Given the description of an element on the screen output the (x, y) to click on. 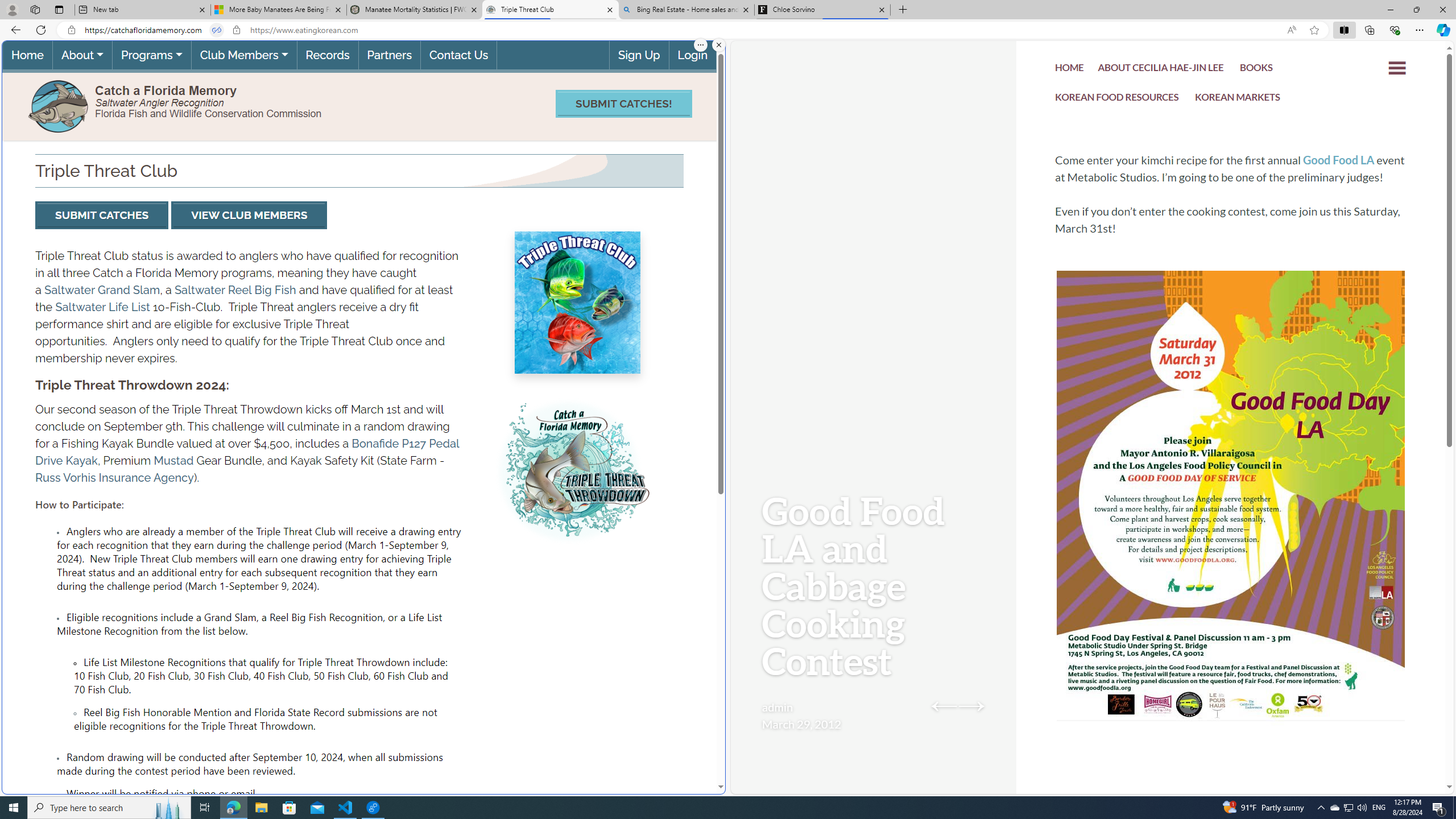
BOOKS (1256, 70)
Bonafide (374, 443)
New Tab (903, 9)
BOOKS (1256, 68)
P127 Pedal Drive Kayak (247, 452)
Mustad (172, 460)
Workspaces (34, 9)
Manatee Mortality Statistics | FWC (414, 9)
Settings and more (Alt+F) (1419, 29)
VIEW CLUB MEMBERS (249, 215)
Refresh (40, 29)
Contact Us (458, 54)
KOREAN FOOD RESOURCES (1117, 98)
Sign Up (638, 54)
About (82, 54)
